Given the description of an element on the screen output the (x, y) to click on. 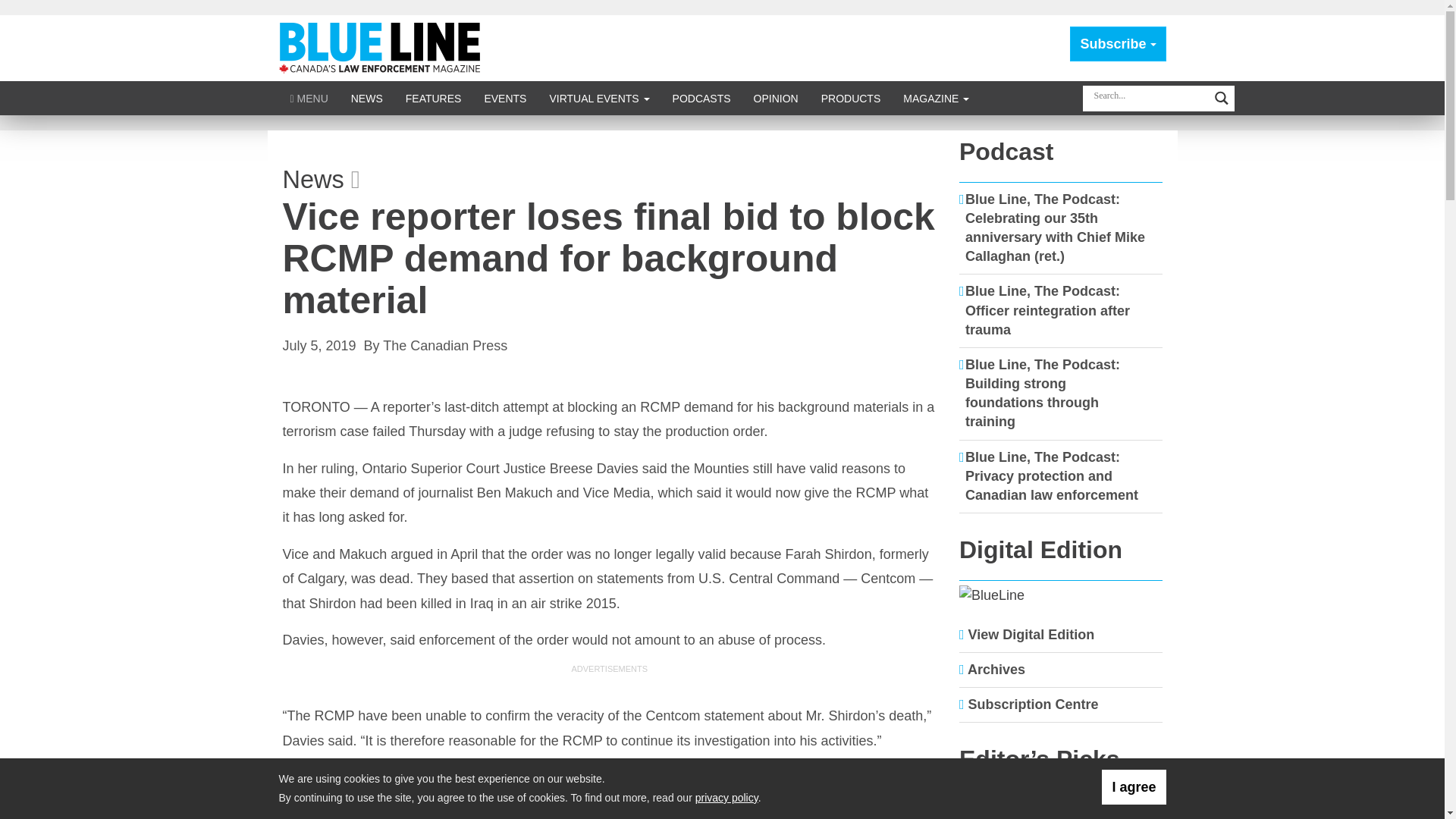
MENU (309, 98)
Click to show site navigation (309, 98)
EVENTS (504, 98)
MAGAZINE (935, 98)
Subscribe (1118, 43)
NEWS (366, 98)
PODCASTS (701, 98)
Blue Line (381, 46)
VIRTUAL EVENTS (599, 98)
PRODUCTS (850, 98)
